Given the description of an element on the screen output the (x, y) to click on. 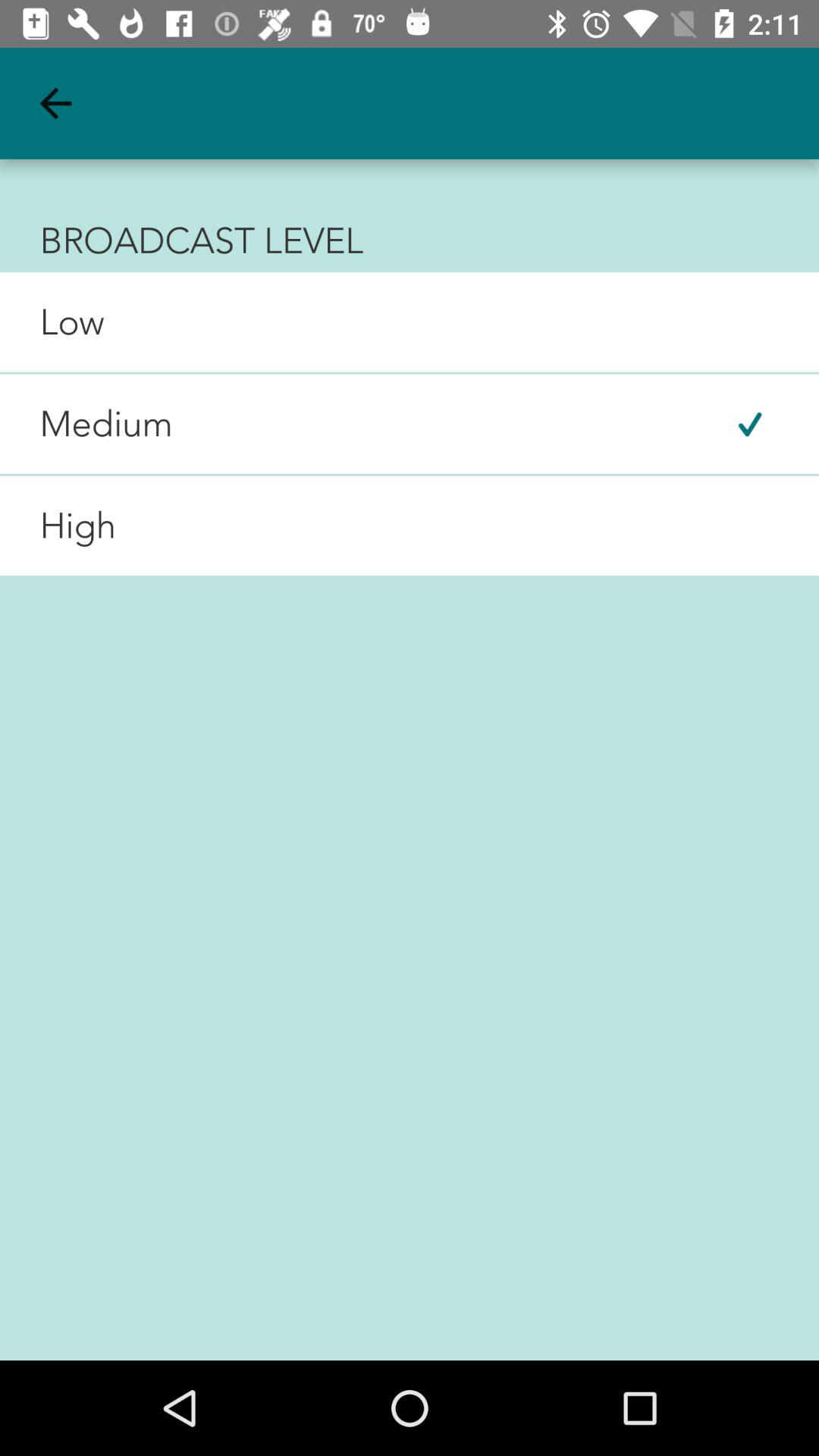
turn off the low icon (52, 321)
